Given the description of an element on the screen output the (x, y) to click on. 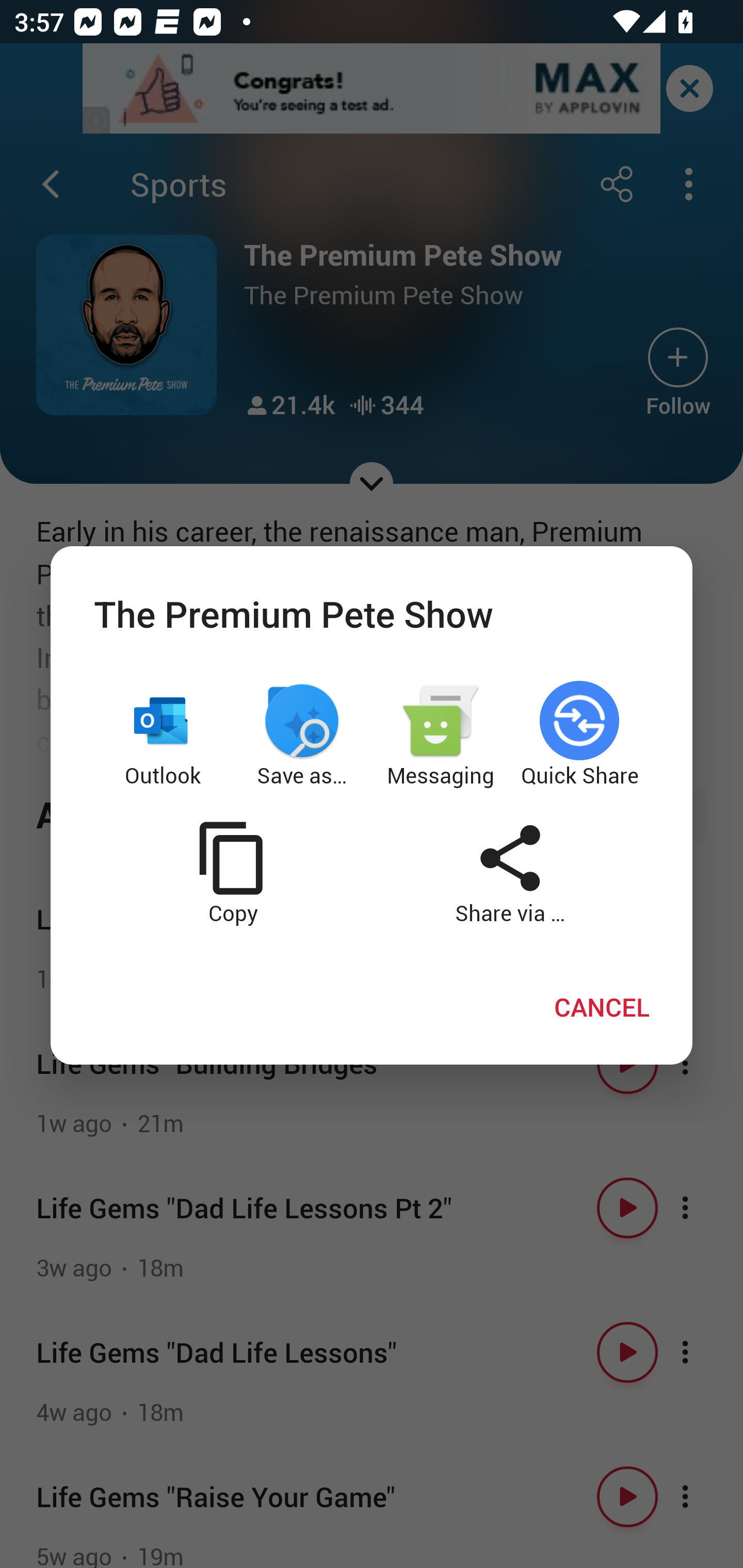
Outlook (163, 735)
Save as… (301, 735)
Messaging (440, 735)
Quick Share (579, 735)
Copy (232, 872)
Share via … (509, 872)
CANCEL (600, 1006)
